Given the description of an element on the screen output the (x, y) to click on. 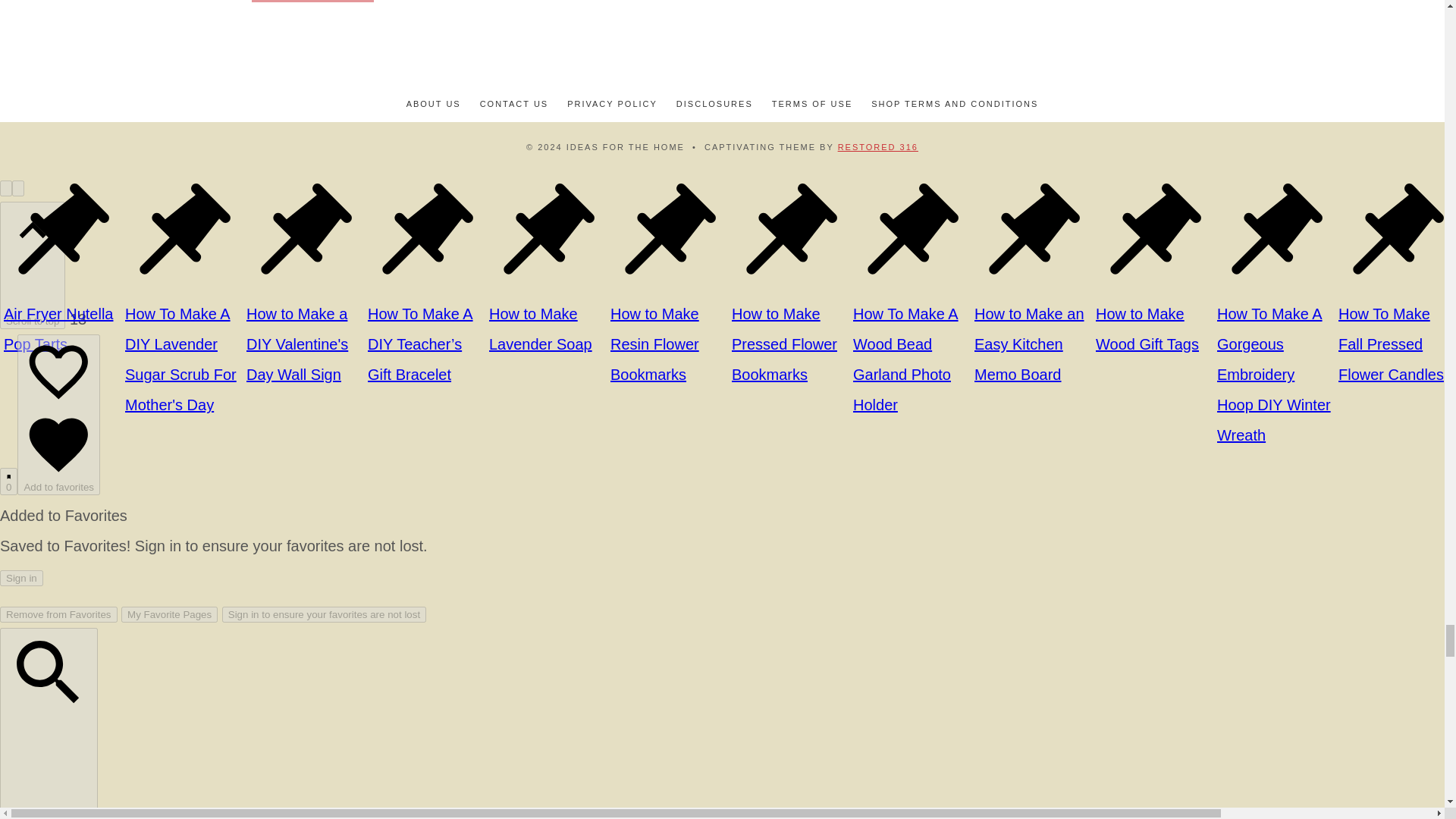
Post Comment (312, 1)
